Given the description of an element on the screen output the (x, y) to click on. 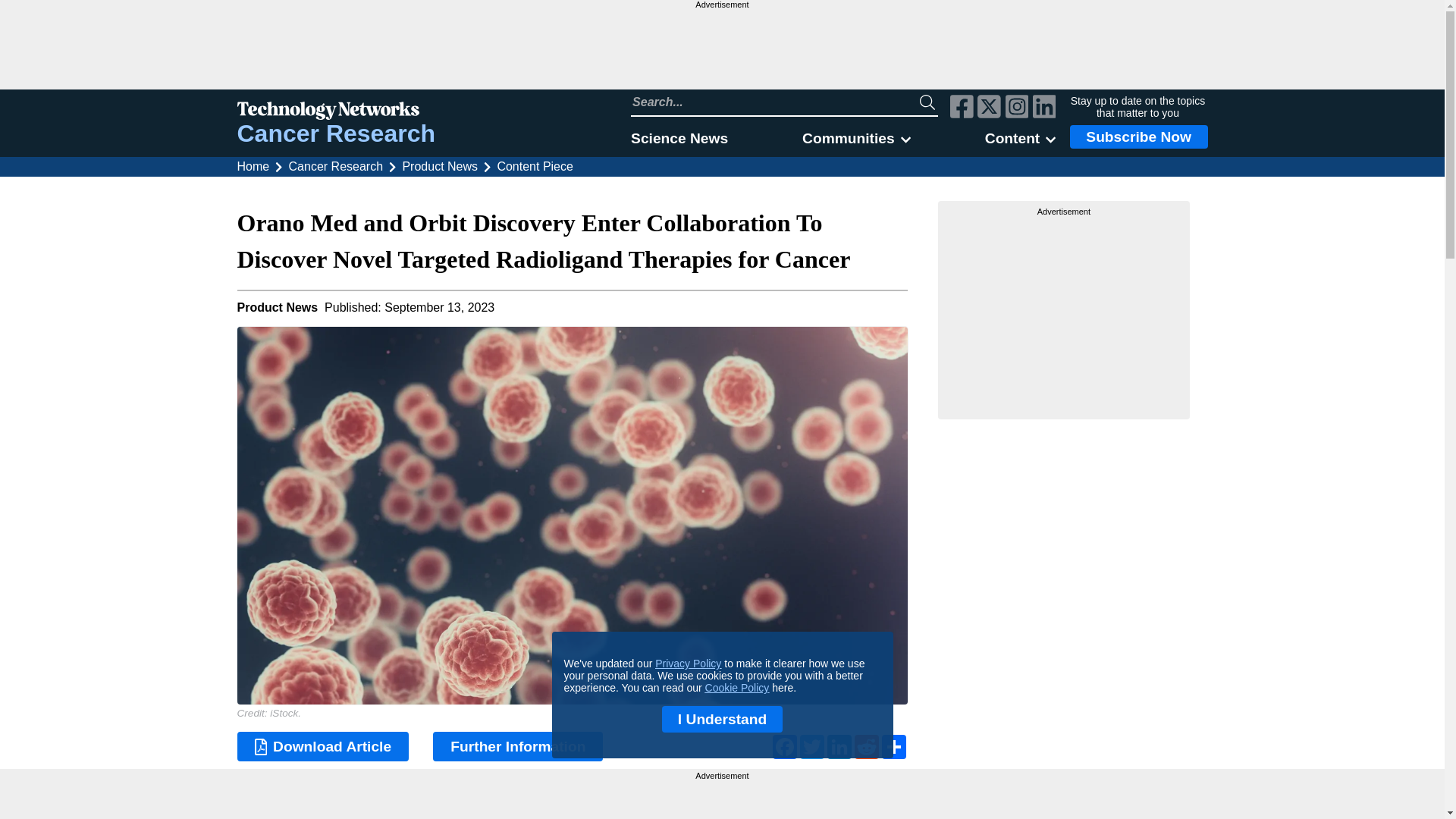
3rd party ad content (1063, 312)
Cookie Policy (737, 687)
Search Technology Networks website input field (775, 102)
Privacy Policy (687, 663)
I Understand (722, 718)
3rd party ad content (722, 799)
3rd party ad content (721, 49)
Technology Networks logo (334, 112)
